Given the description of an element on the screen output the (x, y) to click on. 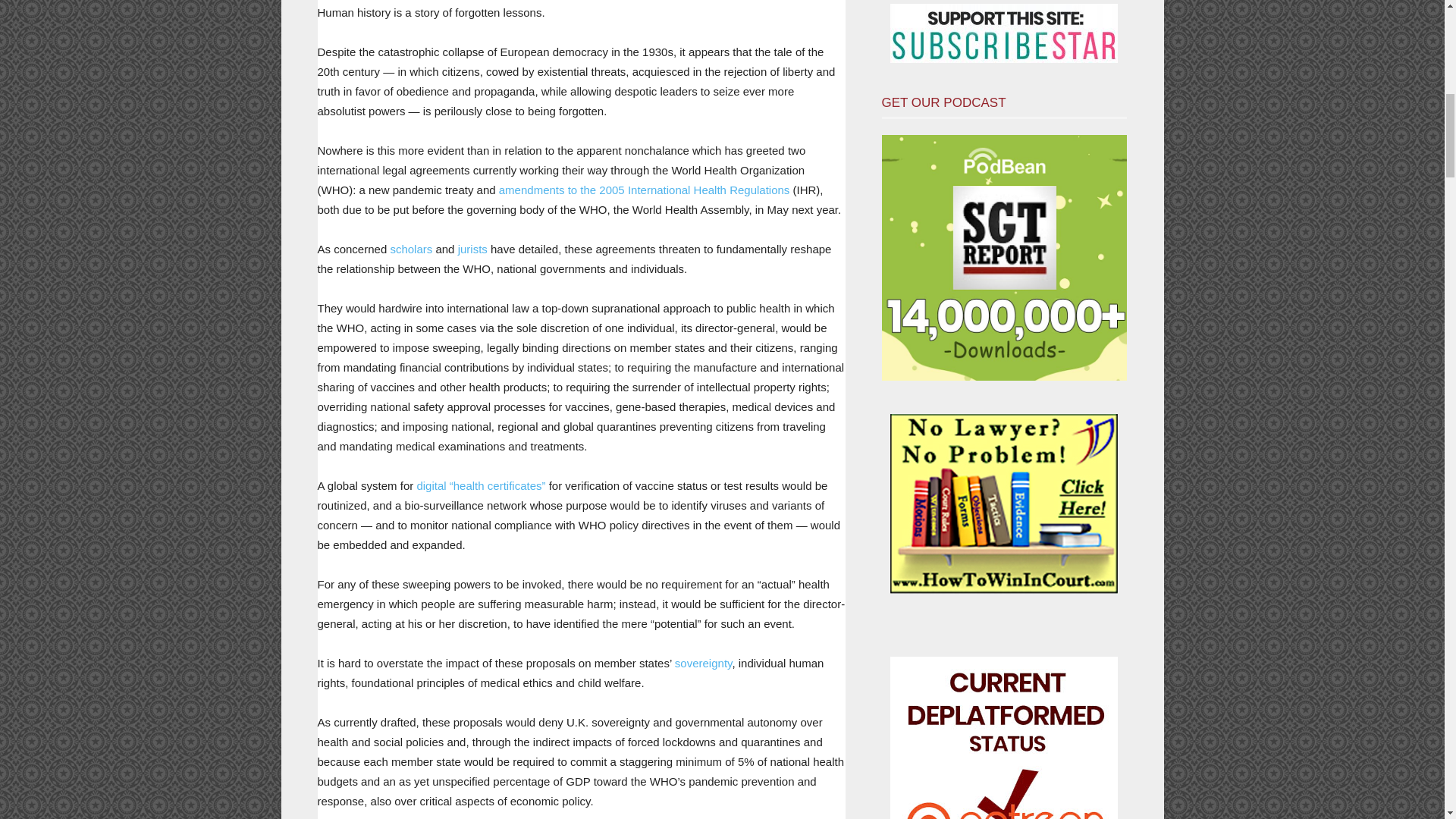
scholars (411, 248)
amendments to the 2005 International Health Regulations (644, 189)
jurists (472, 248)
sovereignty (703, 662)
